Given the description of an element on the screen output the (x, y) to click on. 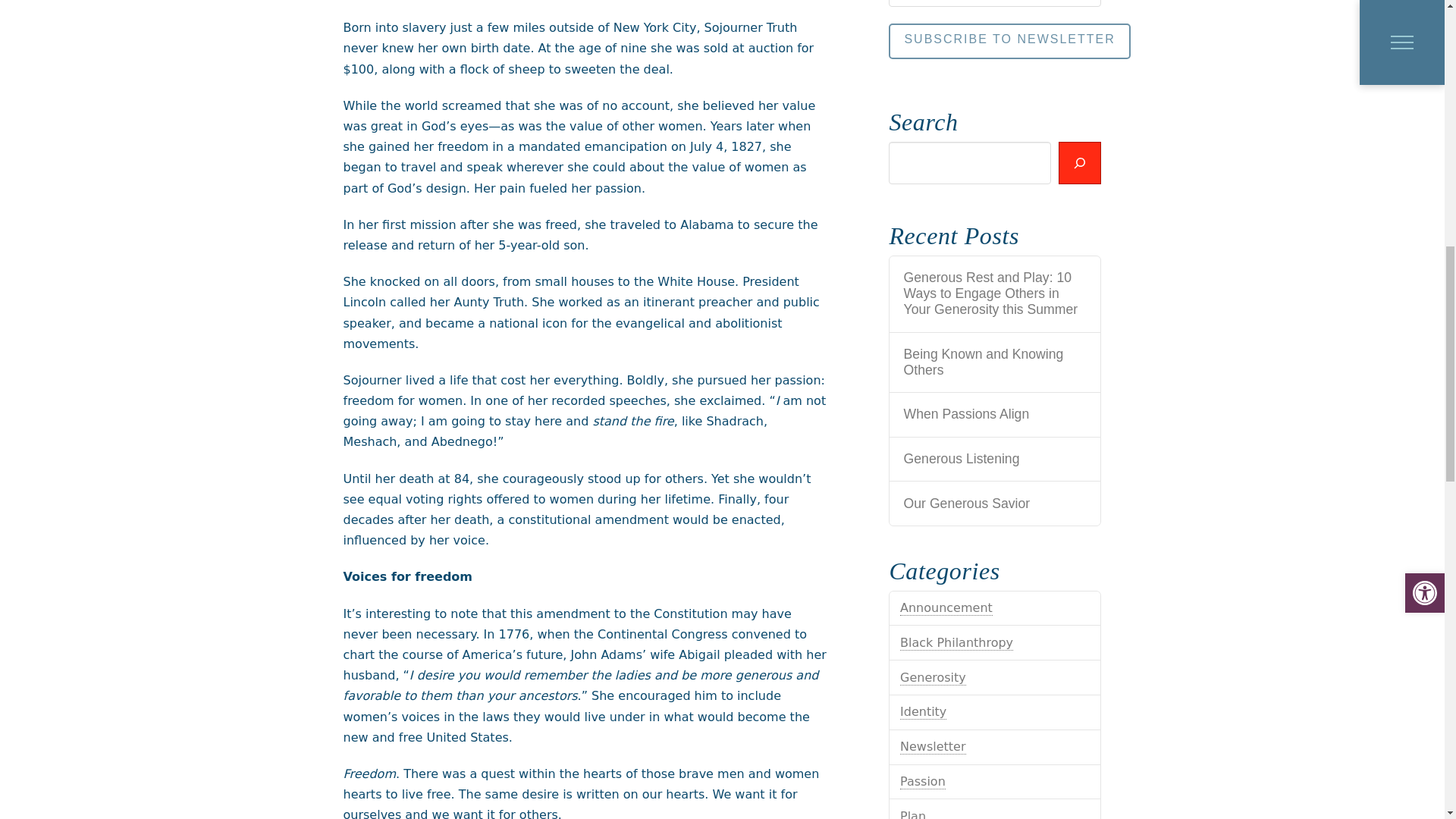
Announcement (945, 607)
Passion (921, 781)
Generous Listening (995, 458)
Generosity (932, 677)
Plan (912, 814)
Subscribe to Newsletter (1008, 40)
Newsletter (932, 746)
When Passions Align (995, 414)
Our Generous Savior (995, 503)
Black Philanthropy (956, 642)
Identity (922, 711)
Being Known and Knowing Others (995, 362)
Subscribe to Newsletter (1008, 40)
